Given the description of an element on the screen output the (x, y) to click on. 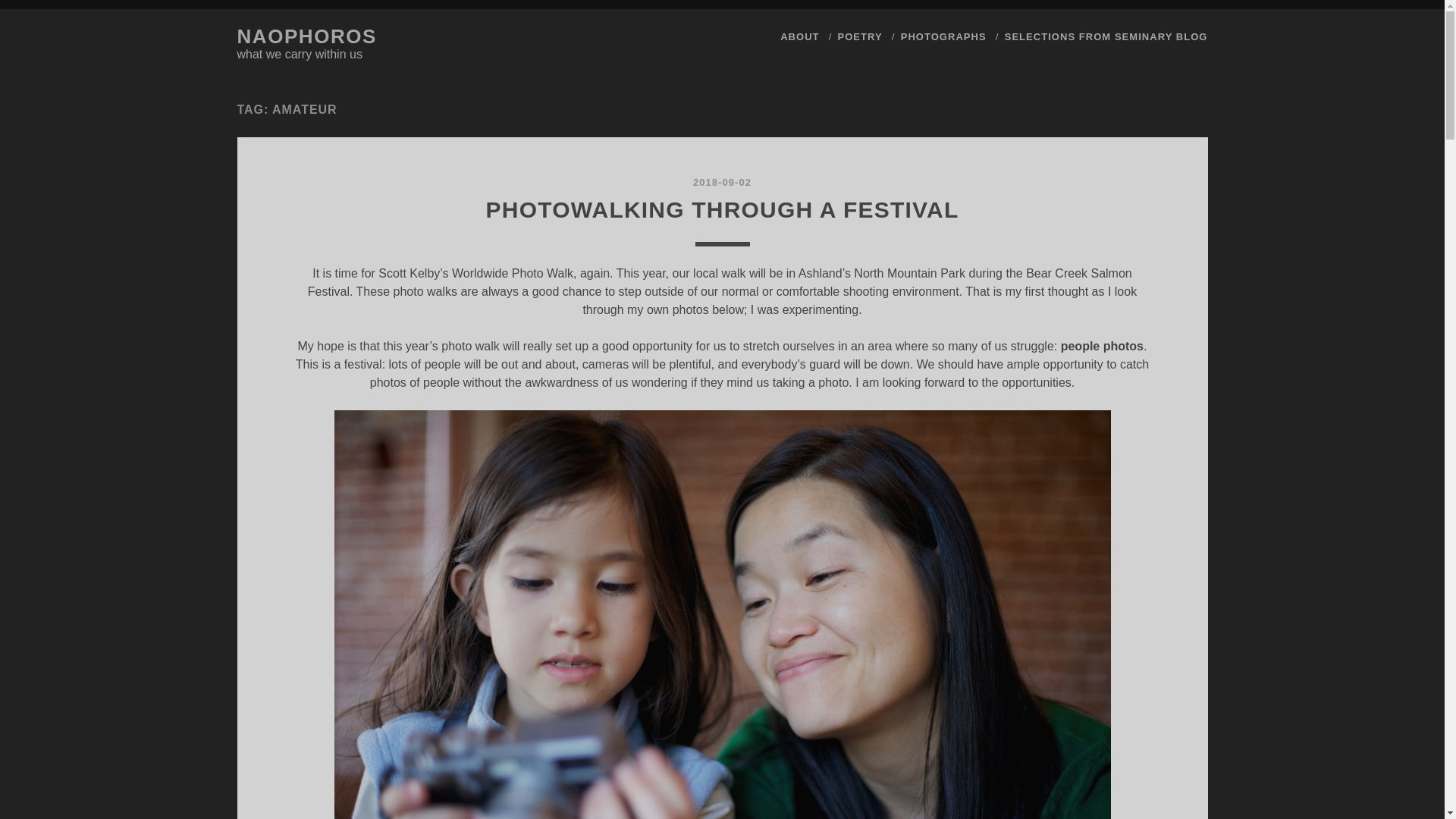
ABOUT (799, 36)
NAOPHOROS (306, 36)
POETRY (859, 36)
SELECTIONS FROM SEMINARY BLOG (1106, 36)
PHOTOGRAPHS (944, 36)
PHOTOWALKING THROUGH A FESTIVAL (722, 209)
